Given the description of an element on the screen output the (x, y) to click on. 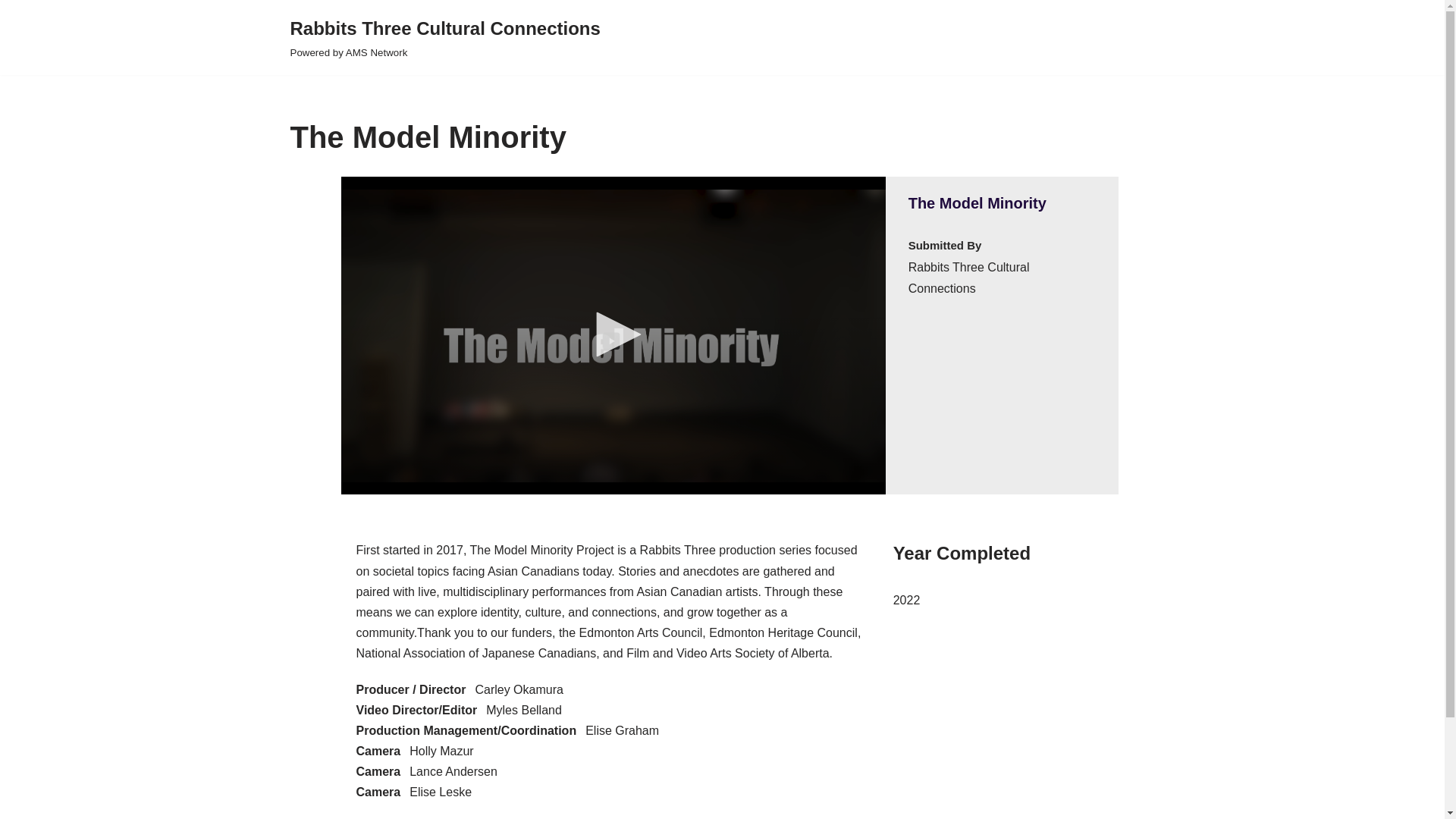
Skip to content Element type: text (11, 31)
